Given the description of an element on the screen output the (x, y) to click on. 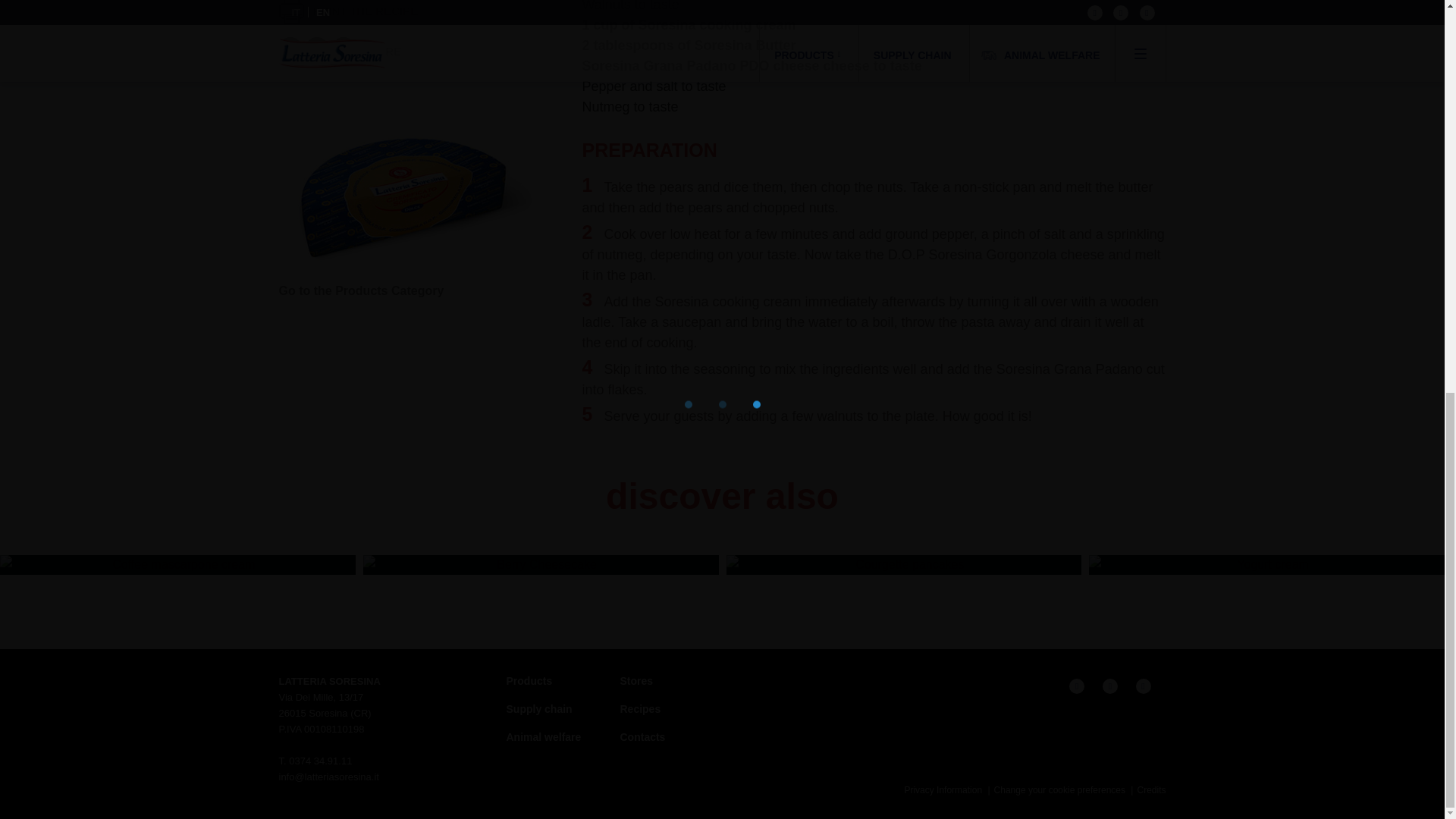
Products (529, 680)
Go to the Products Category (361, 291)
Recipes (640, 708)
Stores (636, 680)
PRINT THE RECIPE (349, 12)
Contacts (642, 736)
